Given the description of an element on the screen output the (x, y) to click on. 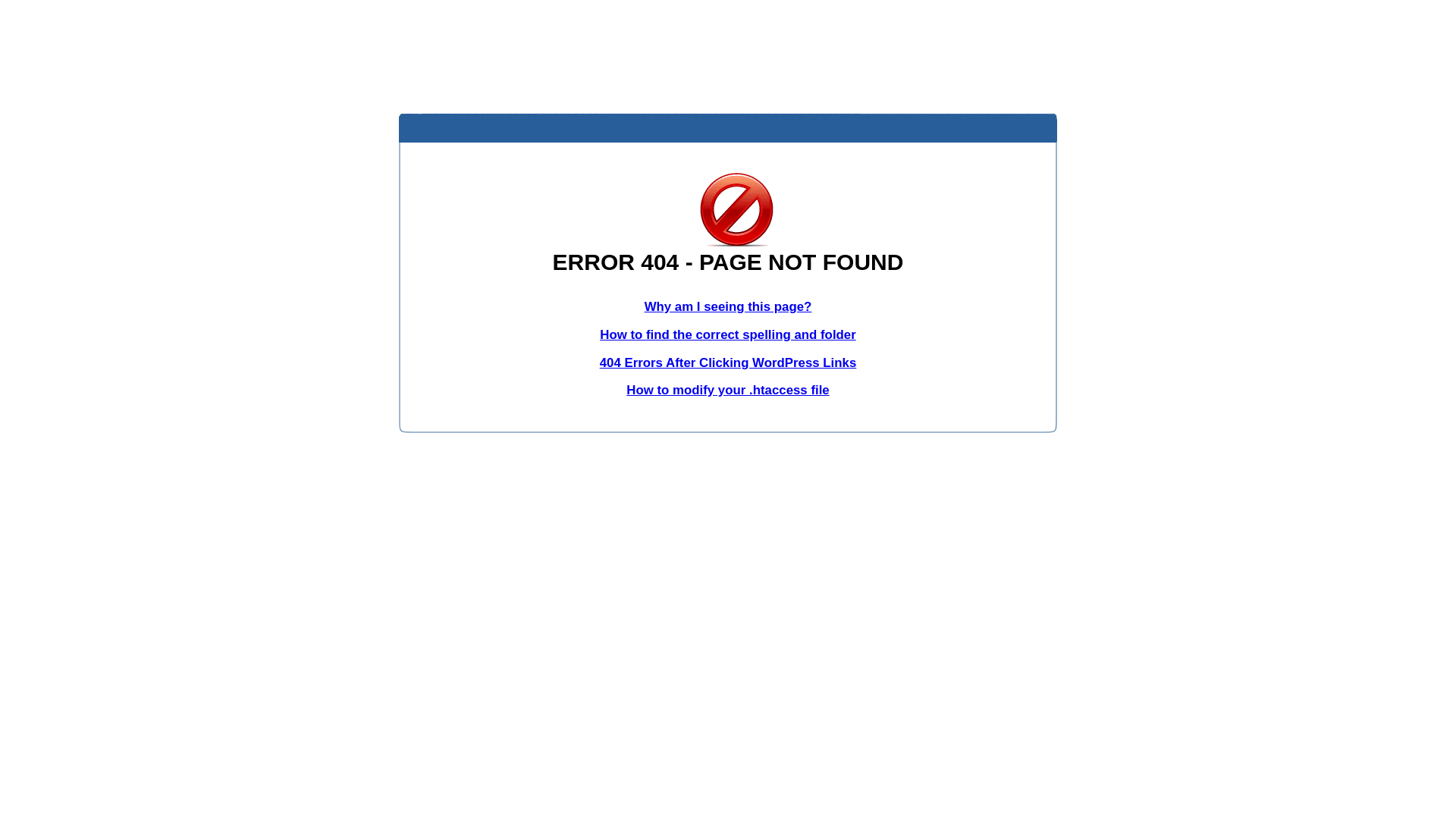
Why am I seeing this page? Element type: text (728, 306)
How to modify your .htaccess file Element type: text (727, 389)
How to find the correct spelling and folder Element type: text (727, 334)
404 Errors After Clicking WordPress Links Element type: text (727, 362)
